Given the description of an element on the screen output the (x, y) to click on. 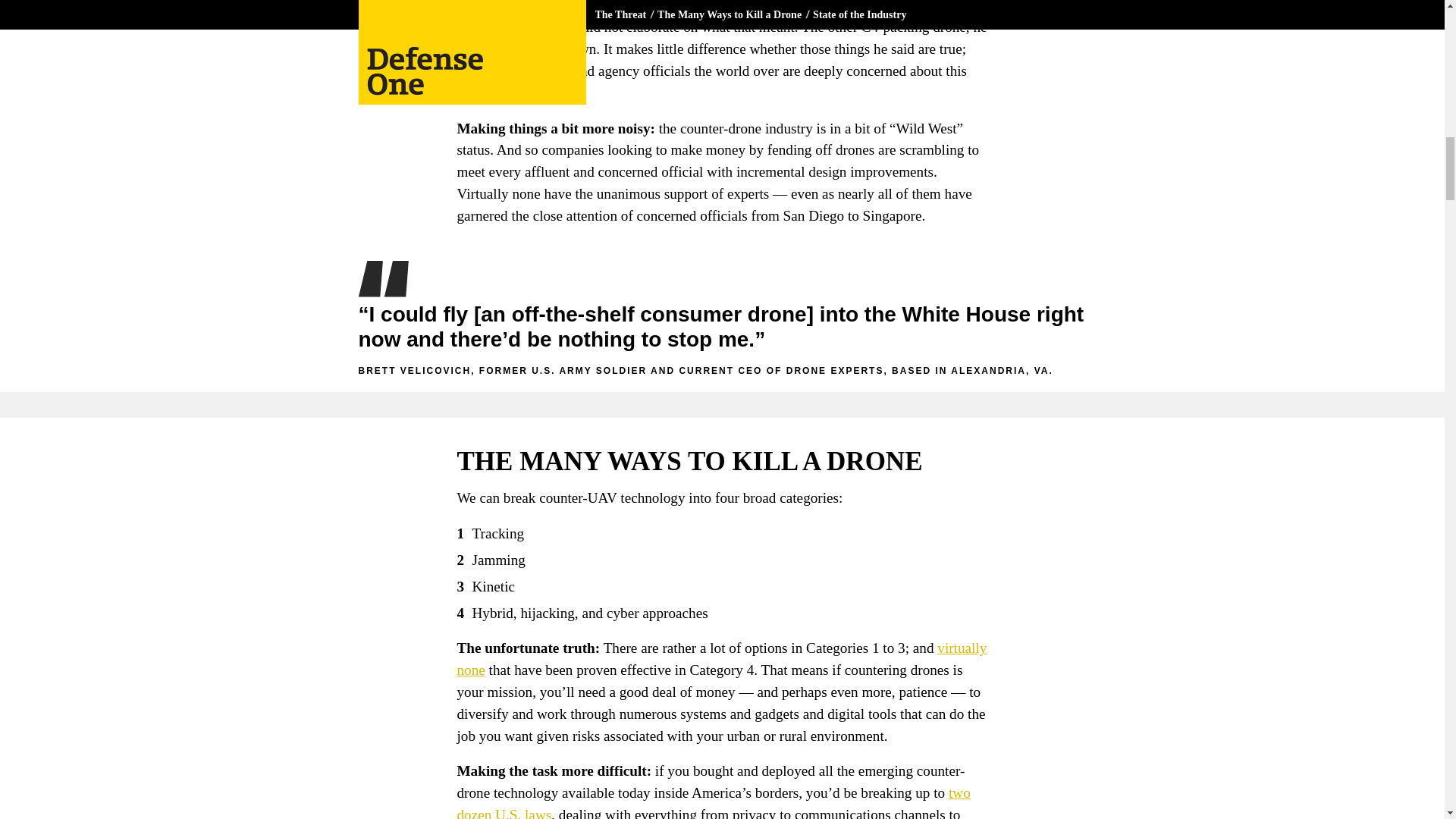
two dozen U.S. laws (713, 801)
virtually none (722, 658)
